Given the description of an element on the screen output the (x, y) to click on. 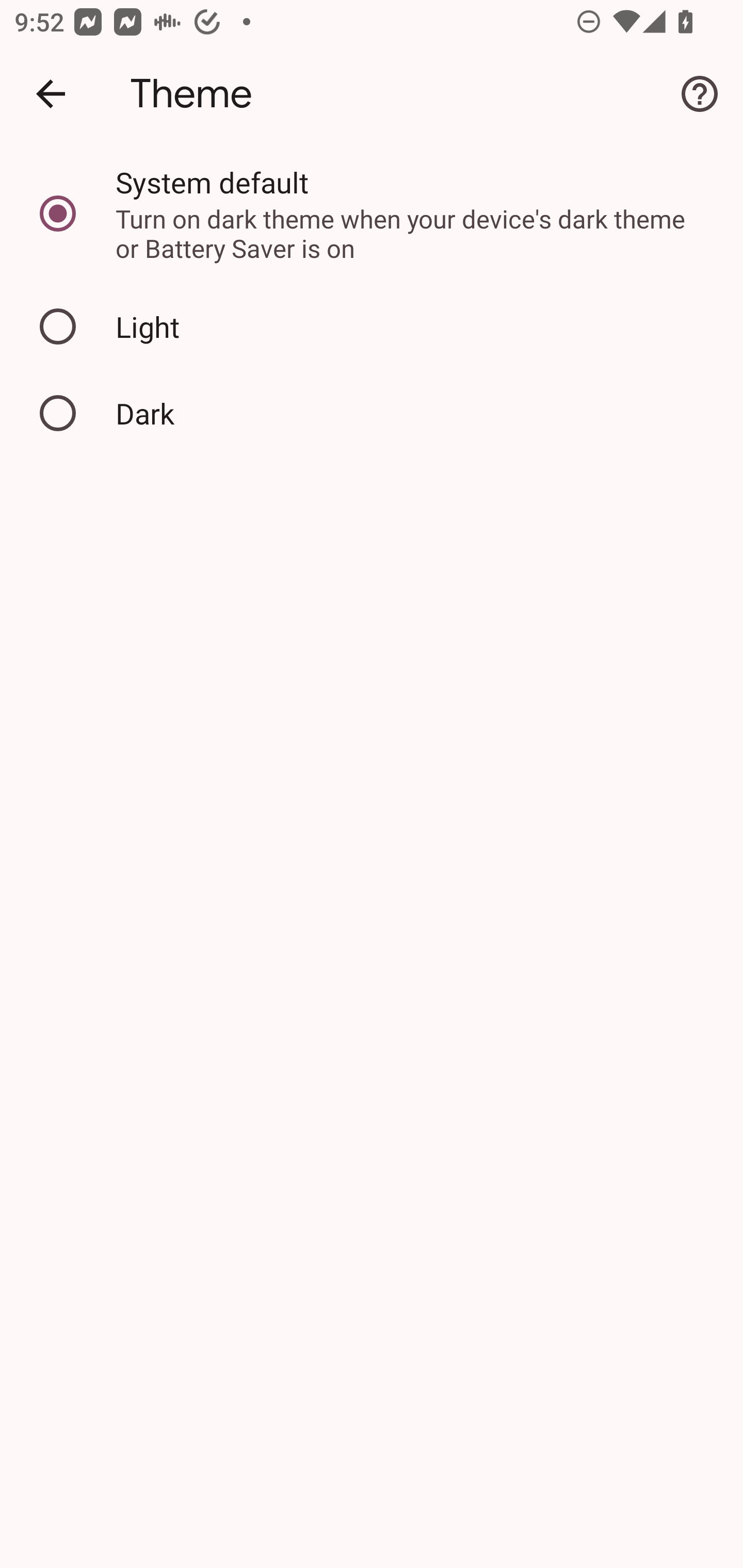
Navigate up (50, 93)
Help & feedback (699, 93)
Light (371, 326)
Dark (371, 413)
